Given the description of an element on the screen output the (x, y) to click on. 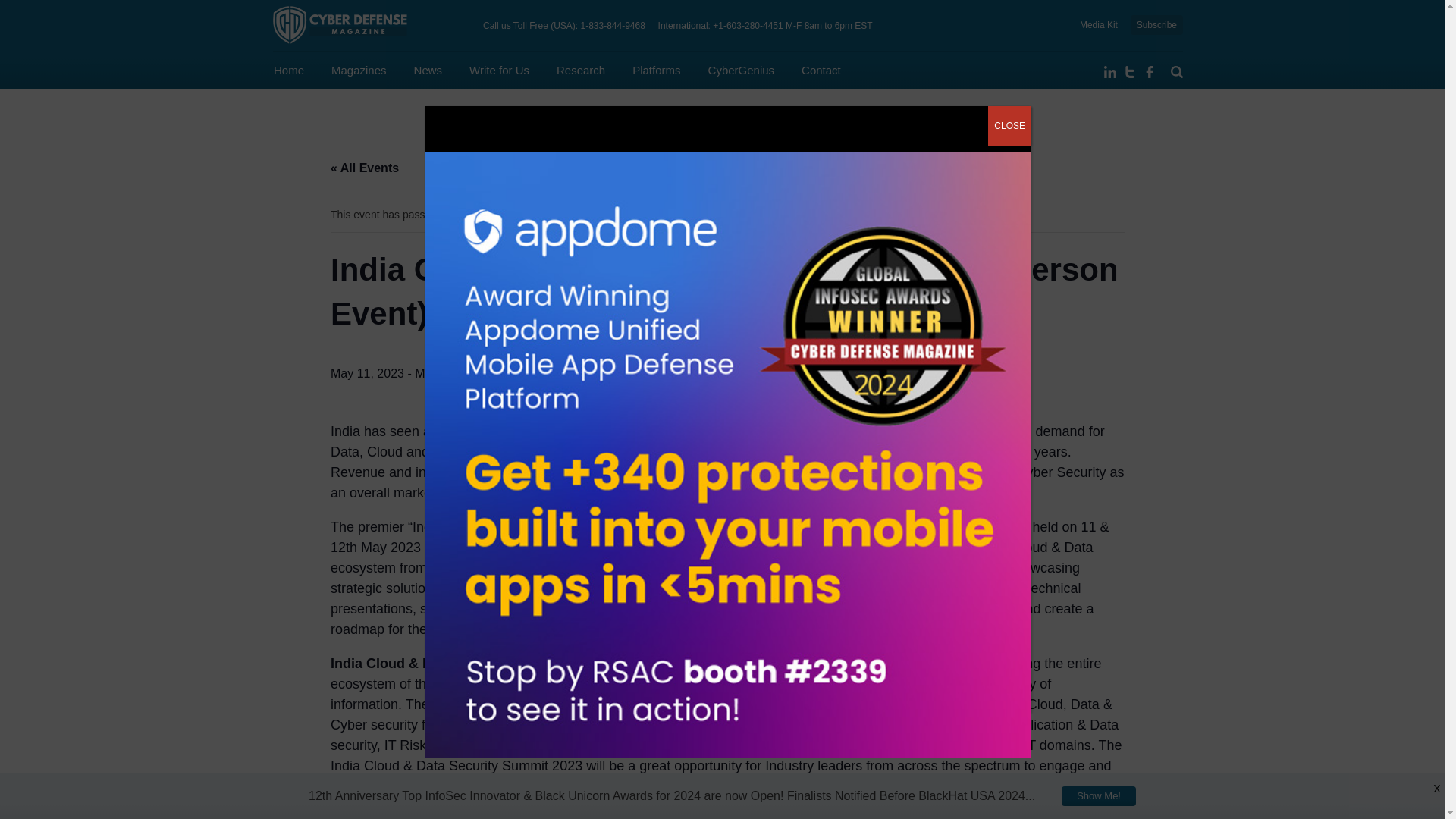
CyberGenius (740, 70)
Write for Us (498, 70)
Platforms (655, 70)
Subscribe (1156, 25)
Media Kit (1099, 24)
Research (580, 70)
Contact (821, 70)
Magazines (359, 70)
